Given the description of an element on the screen output the (x, y) to click on. 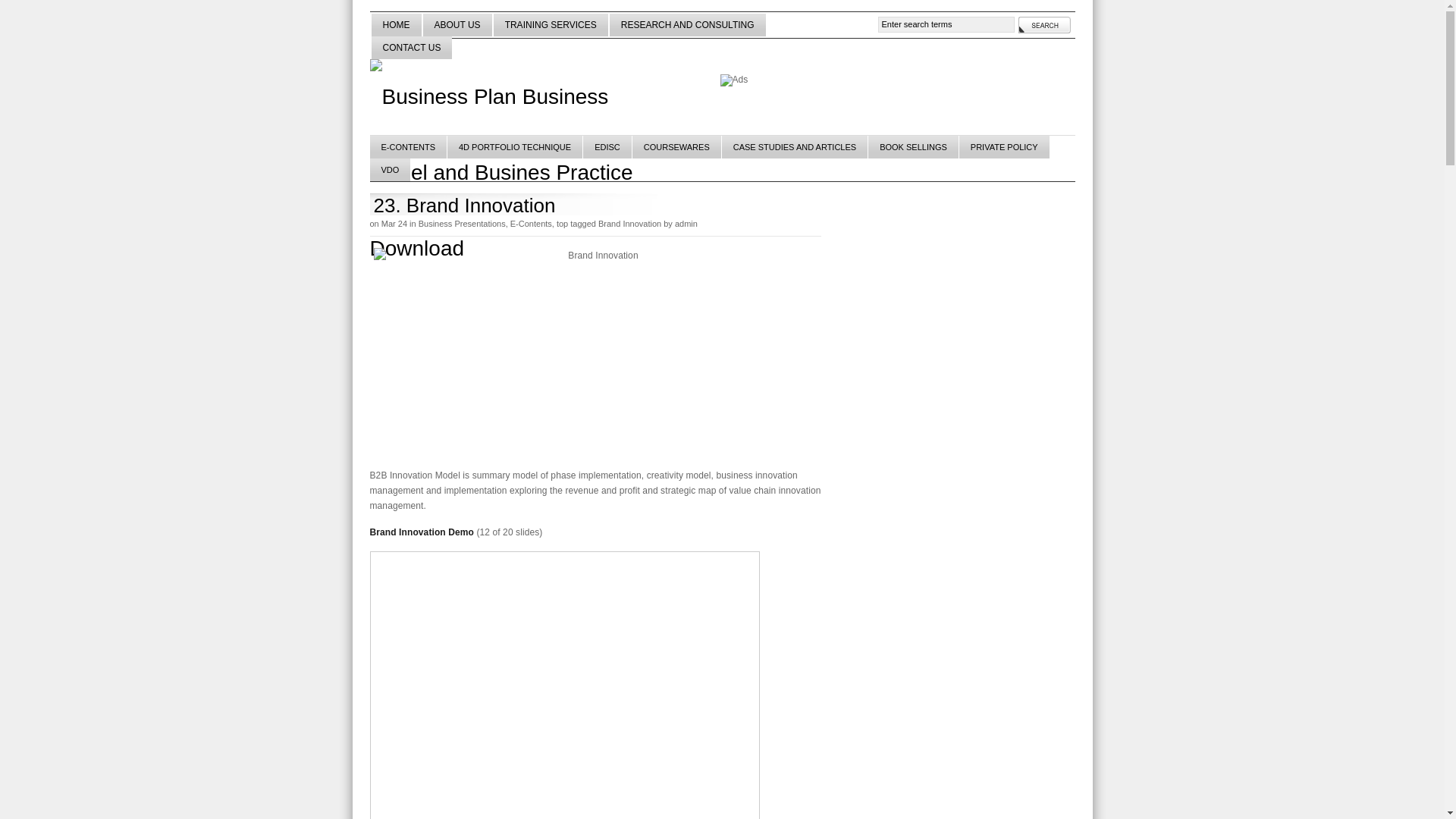
HOME Element type: text (395, 24)
PRIVATE POLICY Element type: text (1004, 146)
BOOK SELLINGS Element type: text (913, 146)
CONTACT US Element type: text (411, 47)
TRAINING SERVICES Element type: text (550, 24)
Business Presentations Element type: text (461, 223)
ABOUT US Element type: text (456, 24)
Brand Innovation Element type: text (629, 223)
E-CONTENTS Element type: text (409, 146)
4D PORTFOLIO TECHNIQUE Element type: text (515, 146)
CASE STUDIES AND ARTICLES Element type: text (794, 146)
RESEARCH AND CONSULTING Element type: text (686, 24)
admin Element type: text (685, 223)
E-Contents Element type: text (531, 223)
top Element type: text (561, 223)
VDO Element type: text (390, 169)
Business Plan Business Model and  Busines Practice  Download Element type: hover (517, 93)
EDISC Element type: text (607, 146)
Brand Innovation Element type: hover (597, 350)
COURSEWARES Element type: text (676, 146)
